Given the description of an element on the screen output the (x, y) to click on. 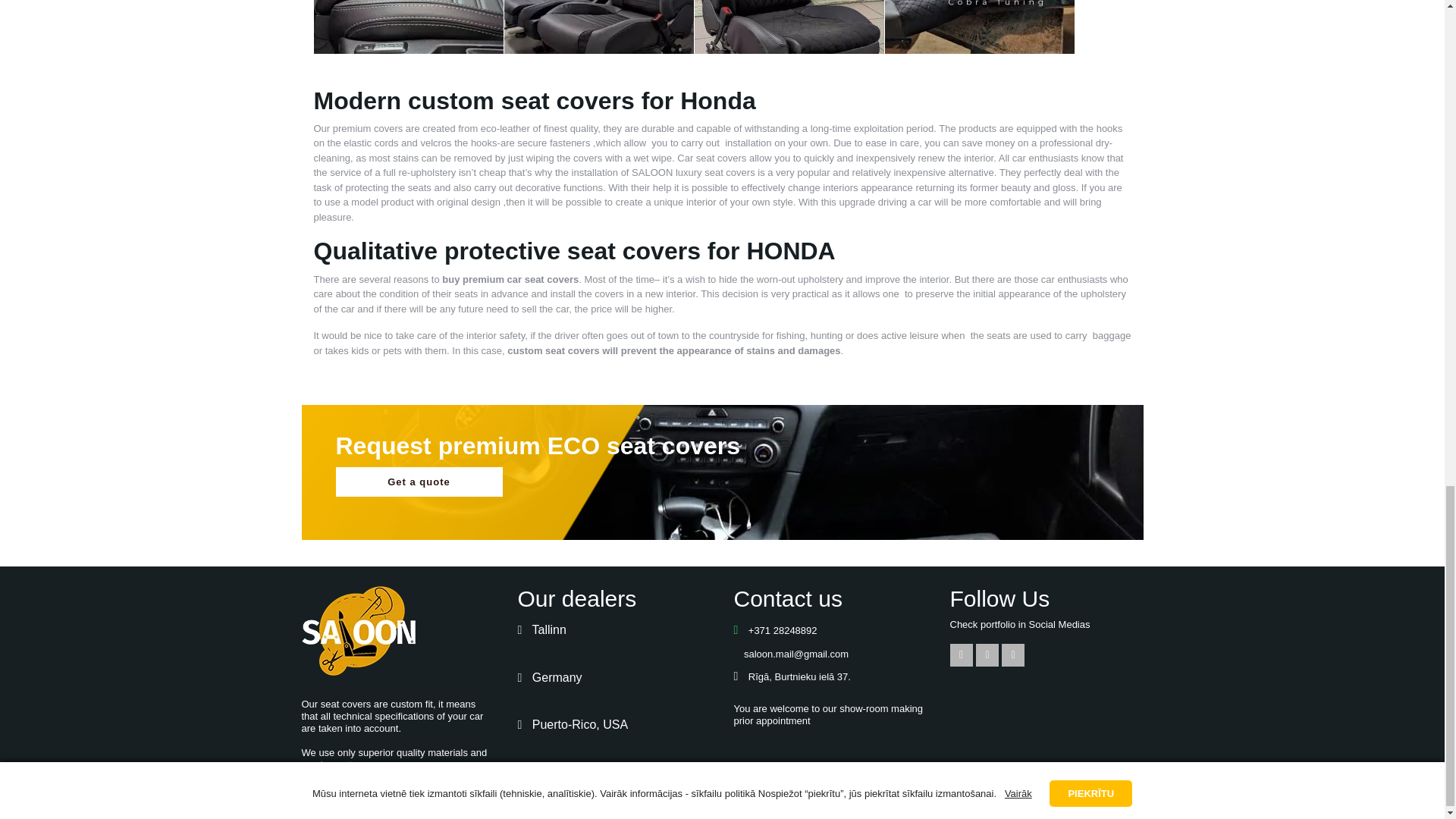
VWSEDEKLI (598, 27)
Get a quote (418, 481)
salona parvilksana (788, 27)
SEDEKLUUZSTADISANA (978, 27)
